Given the description of an element on the screen output the (x, y) to click on. 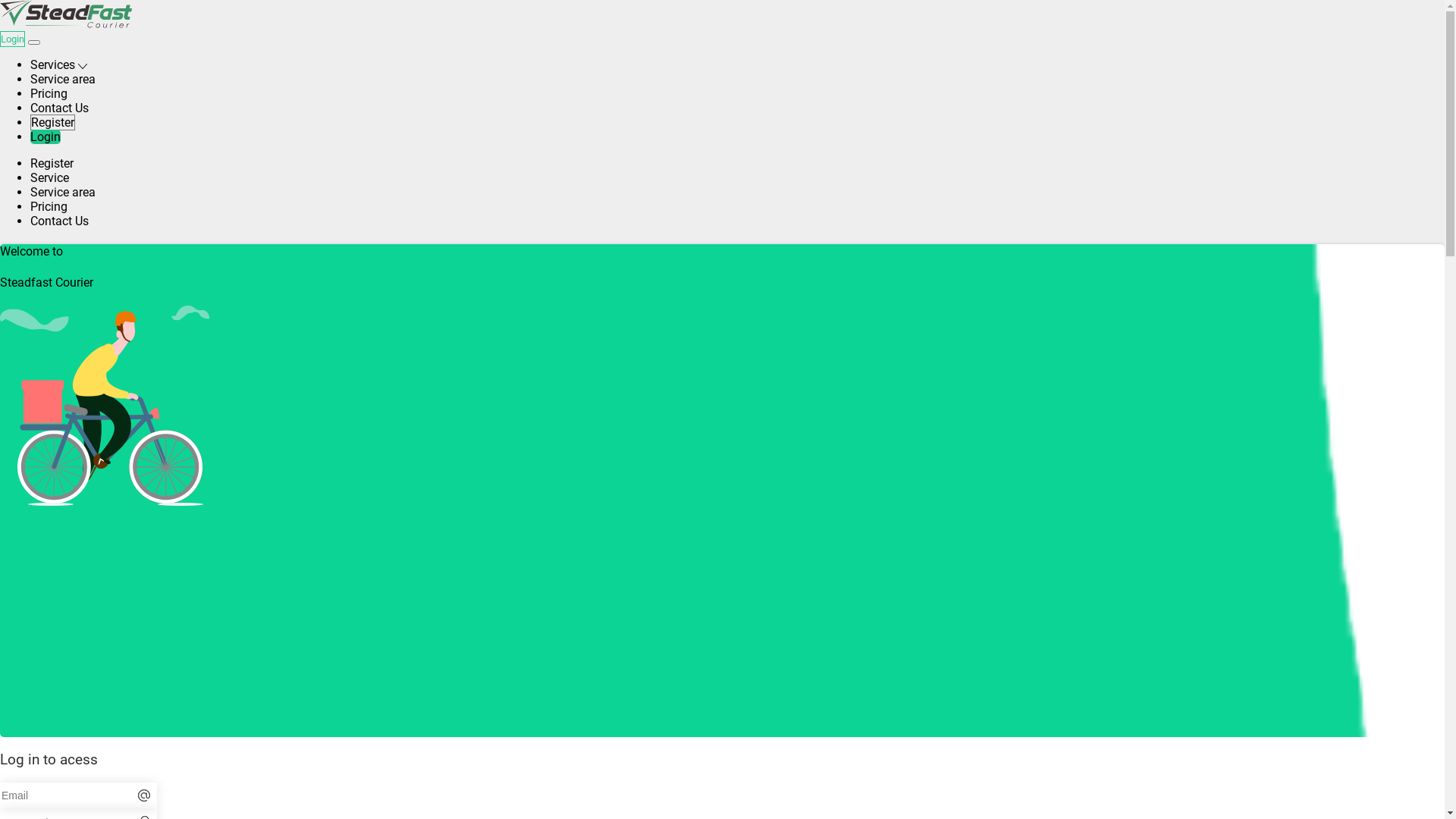
Contact Us Element type: text (59, 220)
Contact Us Element type: text (59, 107)
Service area Element type: text (62, 79)
Pricing Element type: text (48, 93)
Register Element type: text (51, 163)
Pricing Element type: text (48, 206)
Login Element type: text (12, 39)
Login Element type: text (45, 136)
Service Element type: text (49, 177)
Register Element type: text (52, 122)
Service area Element type: text (62, 192)
Services Element type: text (58, 64)
